Given the description of an element on the screen output the (x, y) to click on. 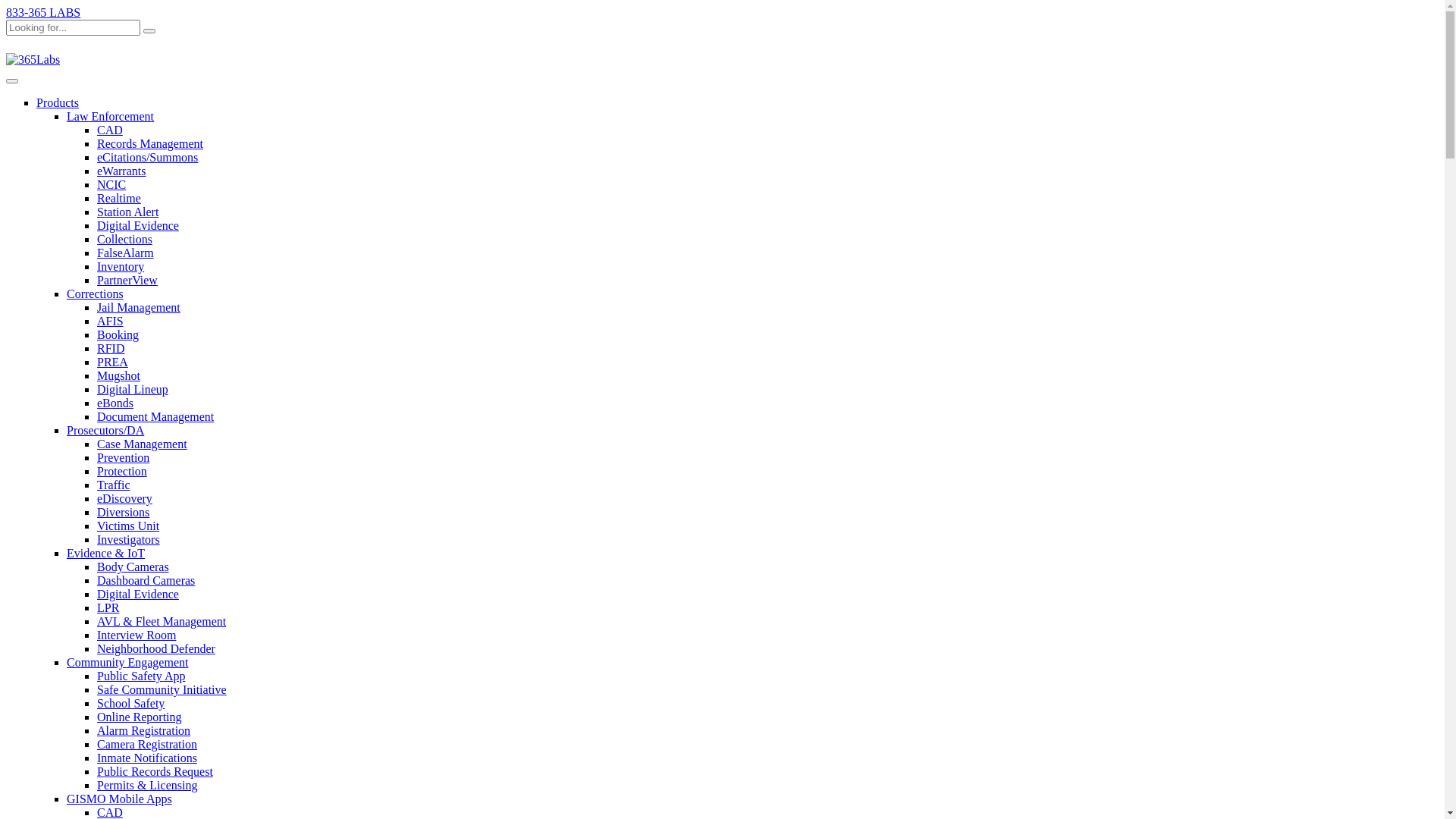
RFID Element type: text (110, 348)
Community Engagement Element type: text (127, 661)
Online Reporting Element type: text (139, 716)
Safe Community Initiative Element type: text (161, 689)
Public Safety App Element type: text (141, 675)
Document Management Element type: text (155, 416)
AVL & Fleet Management Element type: text (161, 621)
833-365 LABS Element type: text (43, 12)
eBonds Element type: text (115, 402)
Inventory Element type: text (120, 266)
Realtime Element type: text (119, 197)
Prevention Element type: text (123, 457)
Inmate Notifications Element type: text (147, 757)
Interview Room Element type: text (136, 634)
Corrections Element type: text (94, 293)
Booking Element type: text (117, 334)
Records Management Element type: text (150, 143)
Permits & Licensing Element type: text (147, 784)
PartnerView Element type: text (127, 279)
Law Enforcement Element type: text (109, 115)
Protection Element type: text (122, 470)
Neighborhood Defender Element type: text (156, 648)
AFIS Element type: text (110, 320)
School Safety Element type: text (130, 702)
Camera Registration Element type: text (147, 743)
Mugshot Element type: text (118, 375)
Traffic Element type: text (113, 484)
Diversions Element type: text (123, 511)
Case Management Element type: text (142, 443)
Public Records Request Element type: text (155, 771)
Products Element type: text (57, 102)
Station Alert Element type: text (127, 211)
Prosecutors/DA Element type: text (105, 429)
CAD Element type: text (109, 129)
FalseAlarm Element type: text (125, 252)
Dashboard Cameras Element type: text (145, 580)
Body Cameras Element type: text (133, 566)
Evidence & IoT Element type: text (105, 552)
Alarm Registration Element type: text (143, 730)
LPR Element type: text (108, 607)
eWarrants Element type: text (121, 170)
Digital Lineup Element type: text (132, 388)
Victims Unit Element type: text (128, 525)
eDiscovery Element type: text (124, 498)
GISMO Mobile Apps Element type: text (119, 798)
NCIC Element type: text (111, 184)
eCitations/Summons Element type: text (147, 156)
Collections Element type: text (124, 238)
Digital Evidence Element type: text (137, 593)
Jail Management Element type: text (138, 307)
PREA Element type: text (112, 361)
Digital Evidence Element type: text (137, 225)
Investigators Element type: text (128, 539)
